Given the description of an element on the screen output the (x, y) to click on. 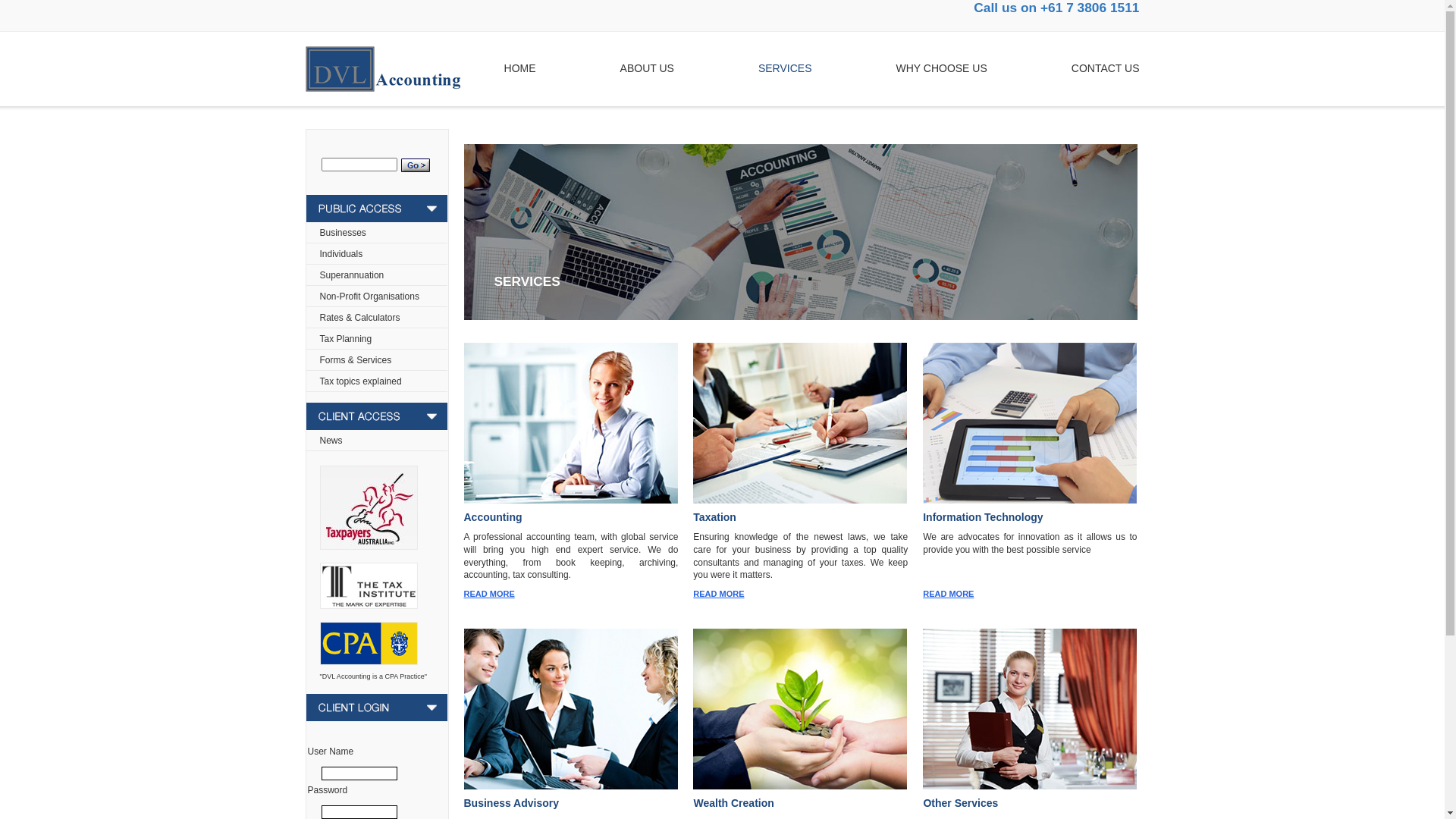
READ MORE Element type: text (718, 593)
READ MORE Element type: text (947, 593)
News Element type: text (331, 440)
Superannuation Element type: text (352, 274)
Tax Planning Element type: text (346, 338)
Tax topics explained Element type: text (360, 381)
Non-Profit Organisations Element type: text (369, 296)
Businesses Element type: text (343, 232)
CONTACT US Element type: text (1105, 68)
SERVICES Element type: text (785, 68)
READ MORE Element type: text (489, 593)
HOME Element type: text (520, 68)
Forms & Services Element type: text (356, 359)
Rates & Calculators Element type: text (360, 317)
Individuals Element type: text (341, 253)
WHY CHOOSE US Element type: text (940, 68)
ABOUT US Element type: text (647, 68)
